Given the description of an element on the screen output the (x, y) to click on. 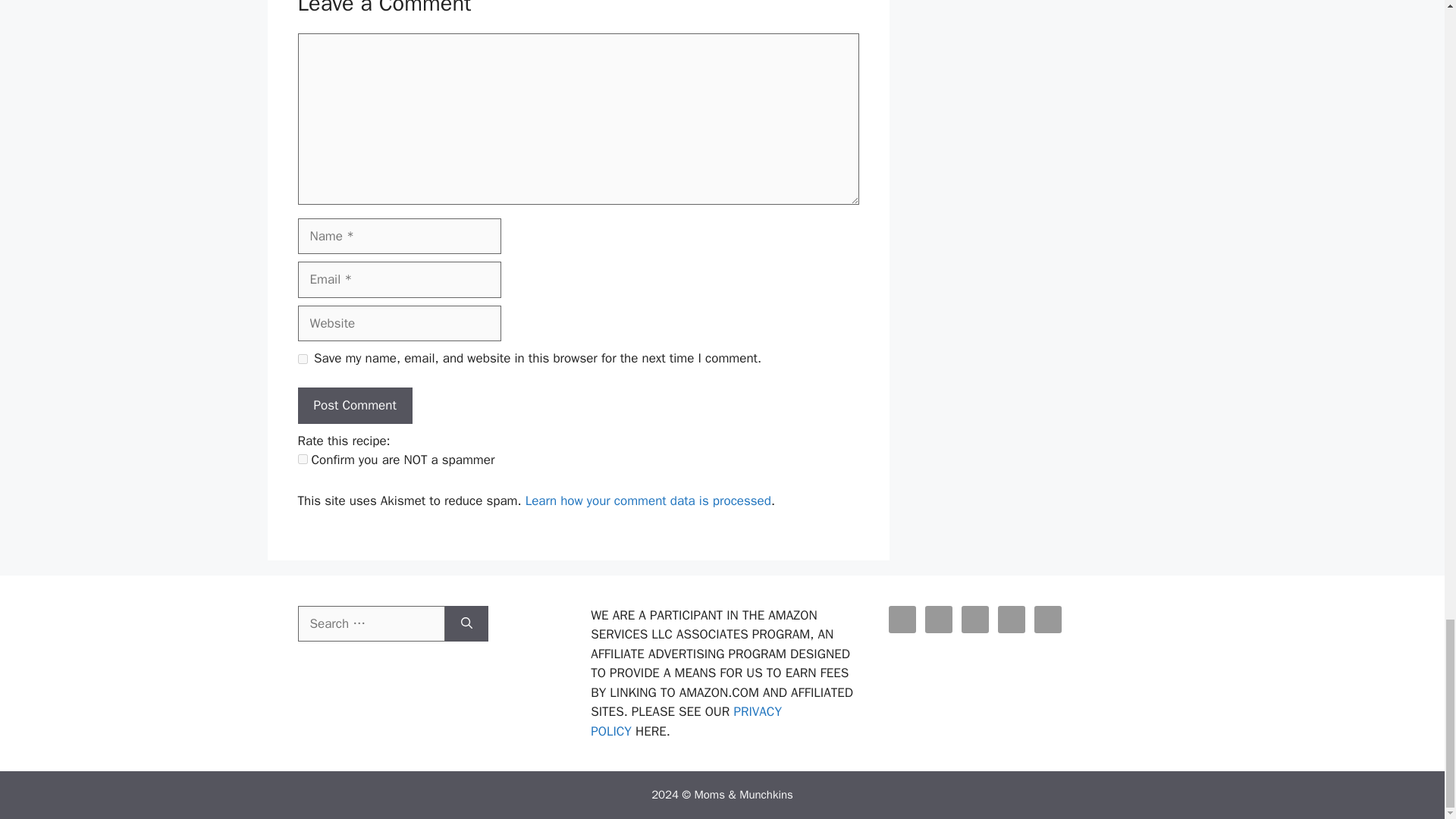
on (302, 459)
Search for: (370, 624)
yes (302, 358)
Post Comment (354, 405)
